Given the description of an element on the screen output the (x, y) to click on. 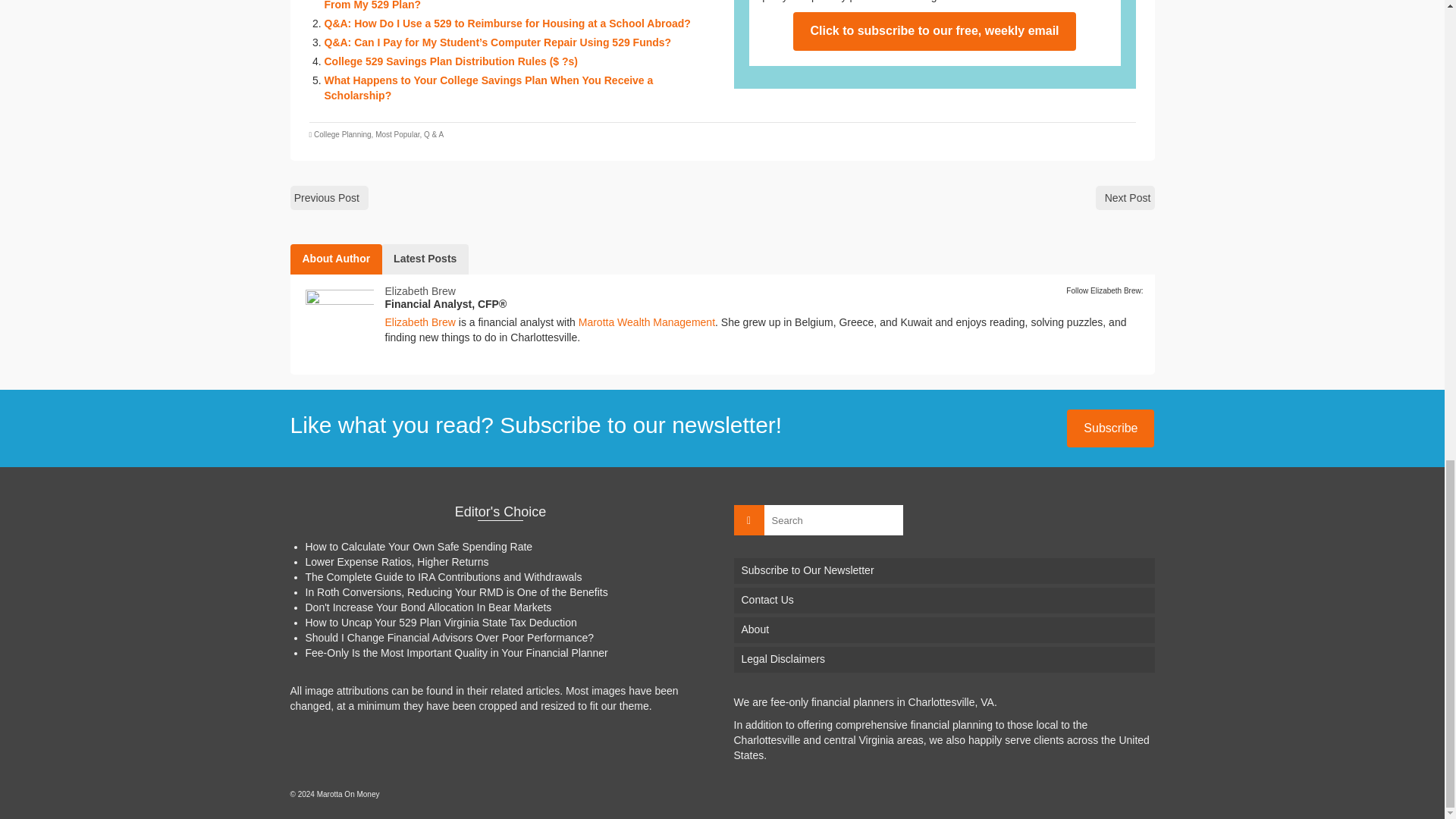
Lower Expense Ratios, Higher Returns (395, 562)
How to Calculate Your Own Safe Spending Rate (418, 546)
The Complete Guide to IRA Contributions and Withdrawals (442, 576)
Should I Change Financial Advisors Over Poor Performance? (449, 637)
How to Uncap Your 529 Plan Virginia State Tax Deduction (440, 622)
Don't Increase Your Bond Allocation In Bear Markets (427, 607)
